Given the description of an element on the screen output the (x, y) to click on. 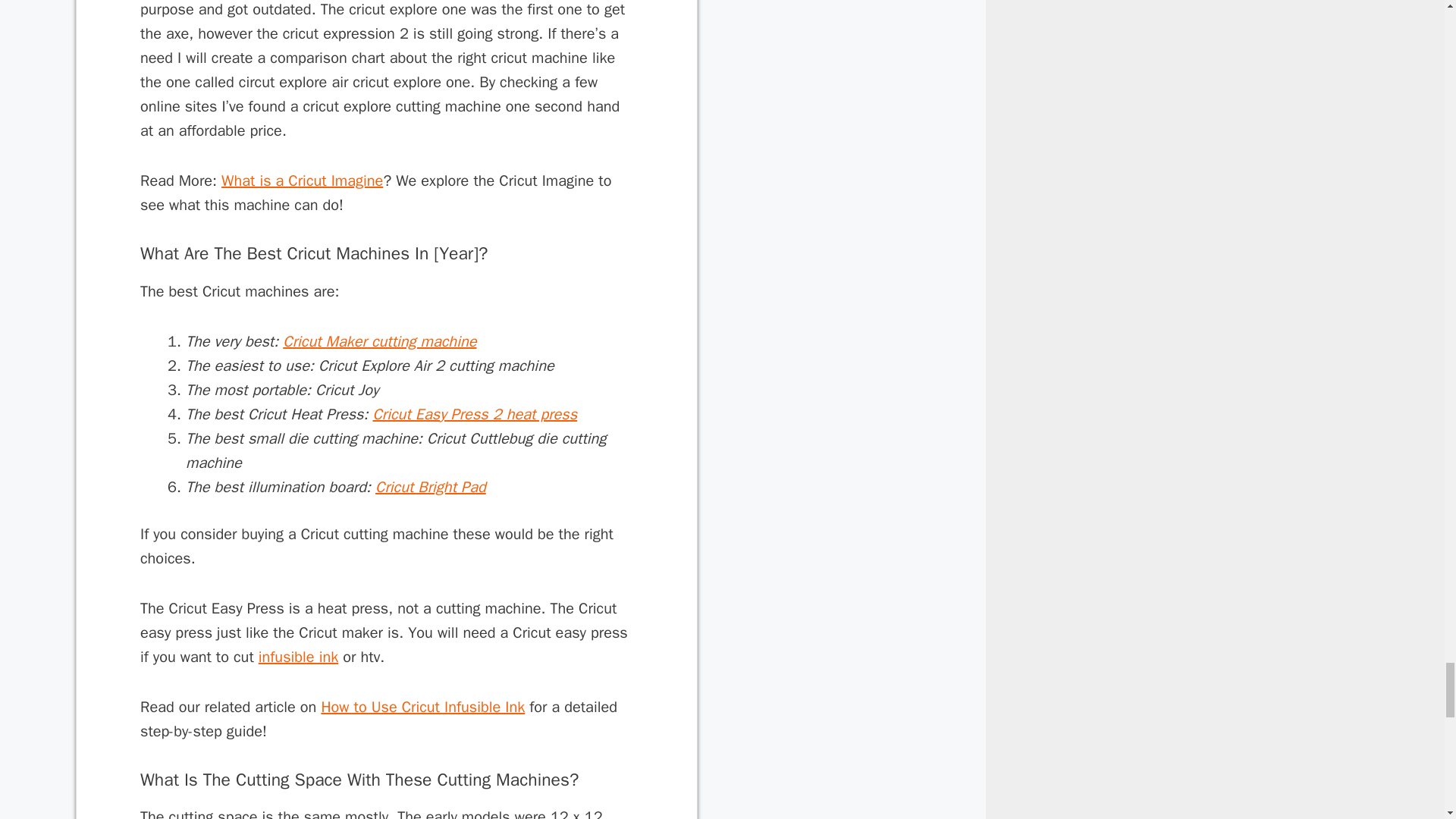
Cricut Easy Press 2 heat press (474, 414)
Cricut Maker cutting machine (379, 341)
What is a Cricut Imagine (301, 180)
